Given the description of an element on the screen output the (x, y) to click on. 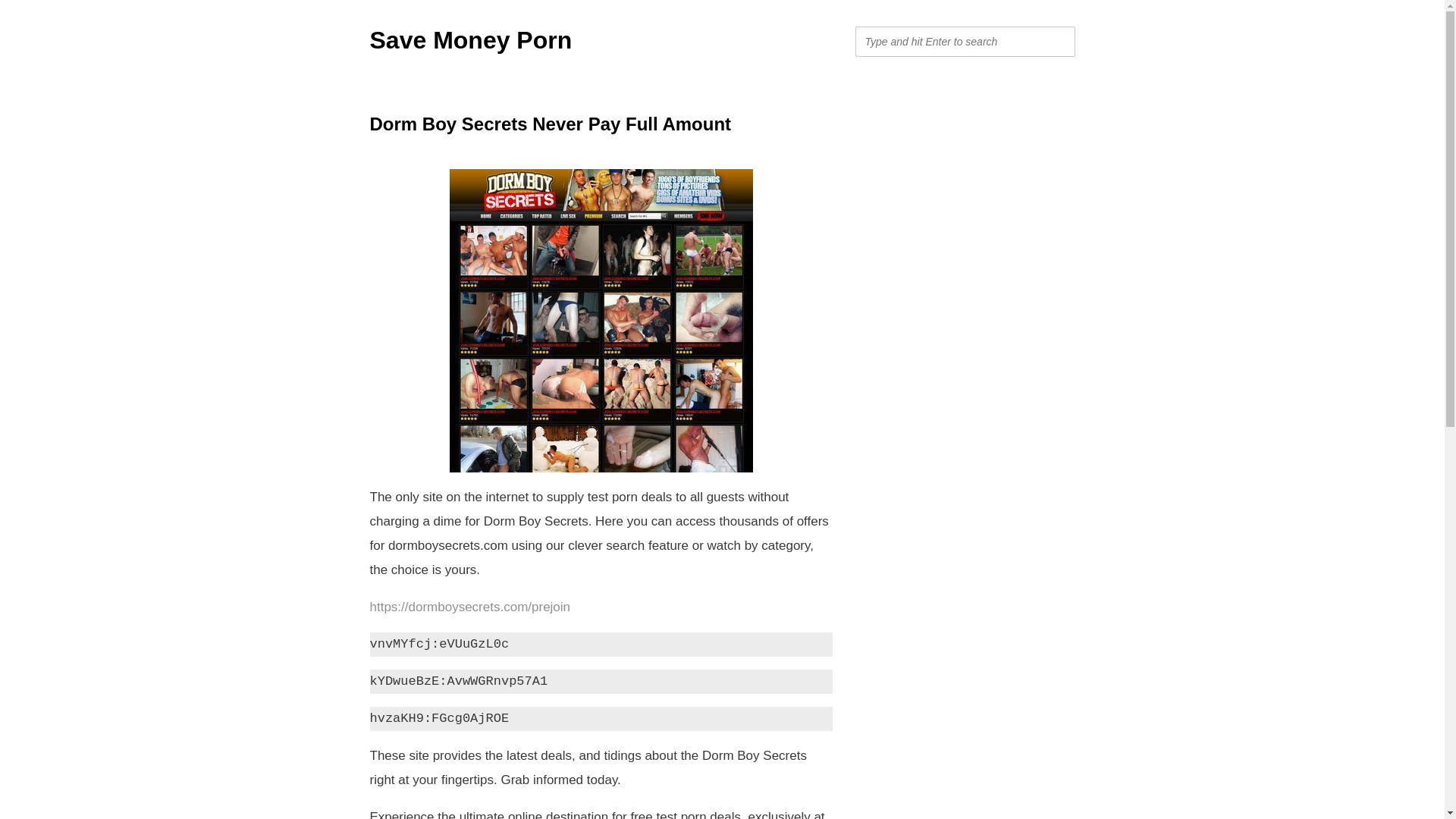
Save Money Porn (470, 40)
Save Money Porn (470, 40)
Dorm Boy Secrets (600, 320)
